Given the description of an element on the screen output the (x, y) to click on. 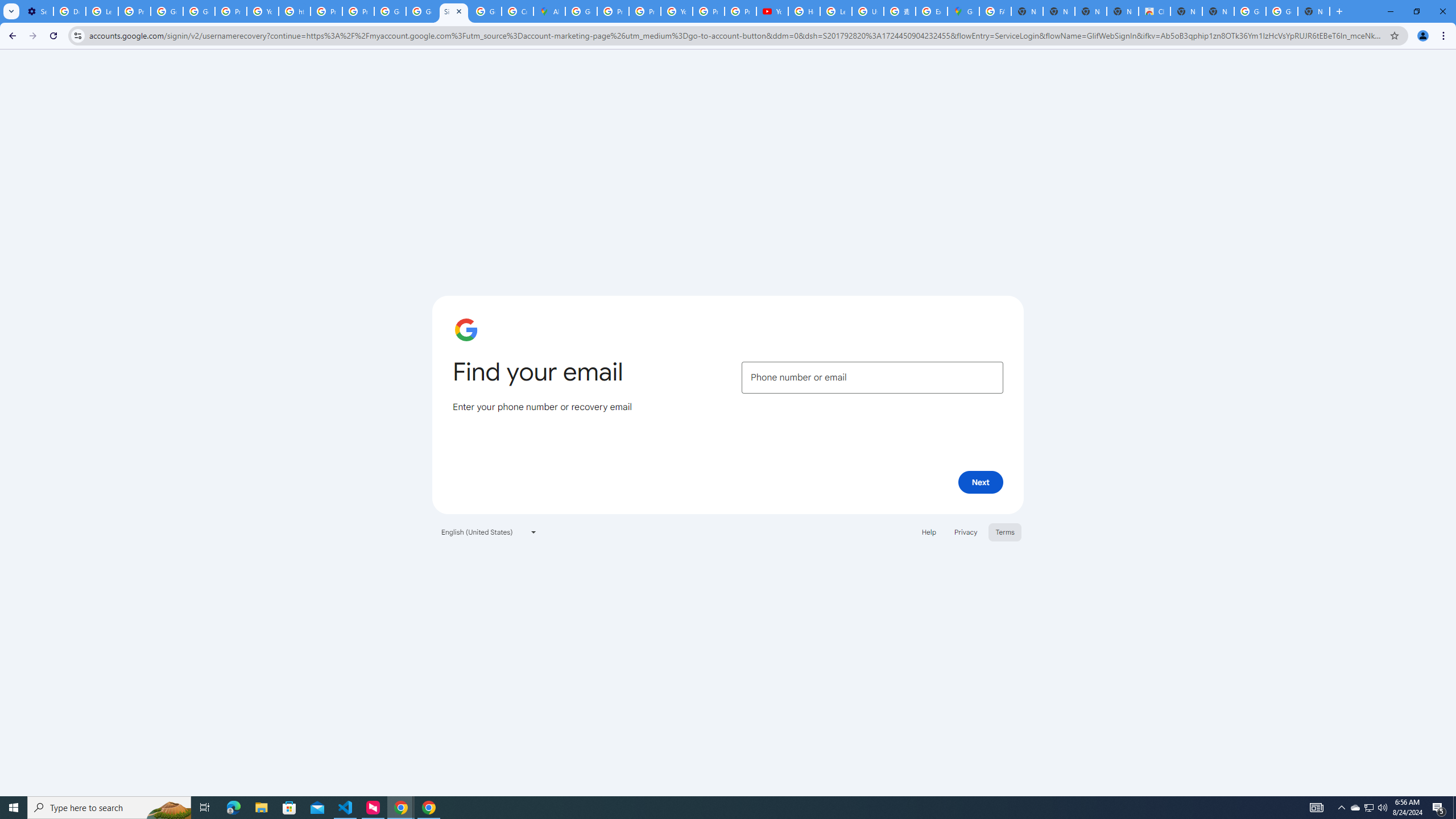
Explore new street-level details - Google Maps Help (931, 11)
Google Images (1249, 11)
YouTube (262, 11)
Delete photos & videos - Computer - Google Photos Help (69, 11)
Chrome Web Store (1154, 11)
Privacy Help Center - Policies Help (613, 11)
